Given the description of an element on the screen output the (x, y) to click on. 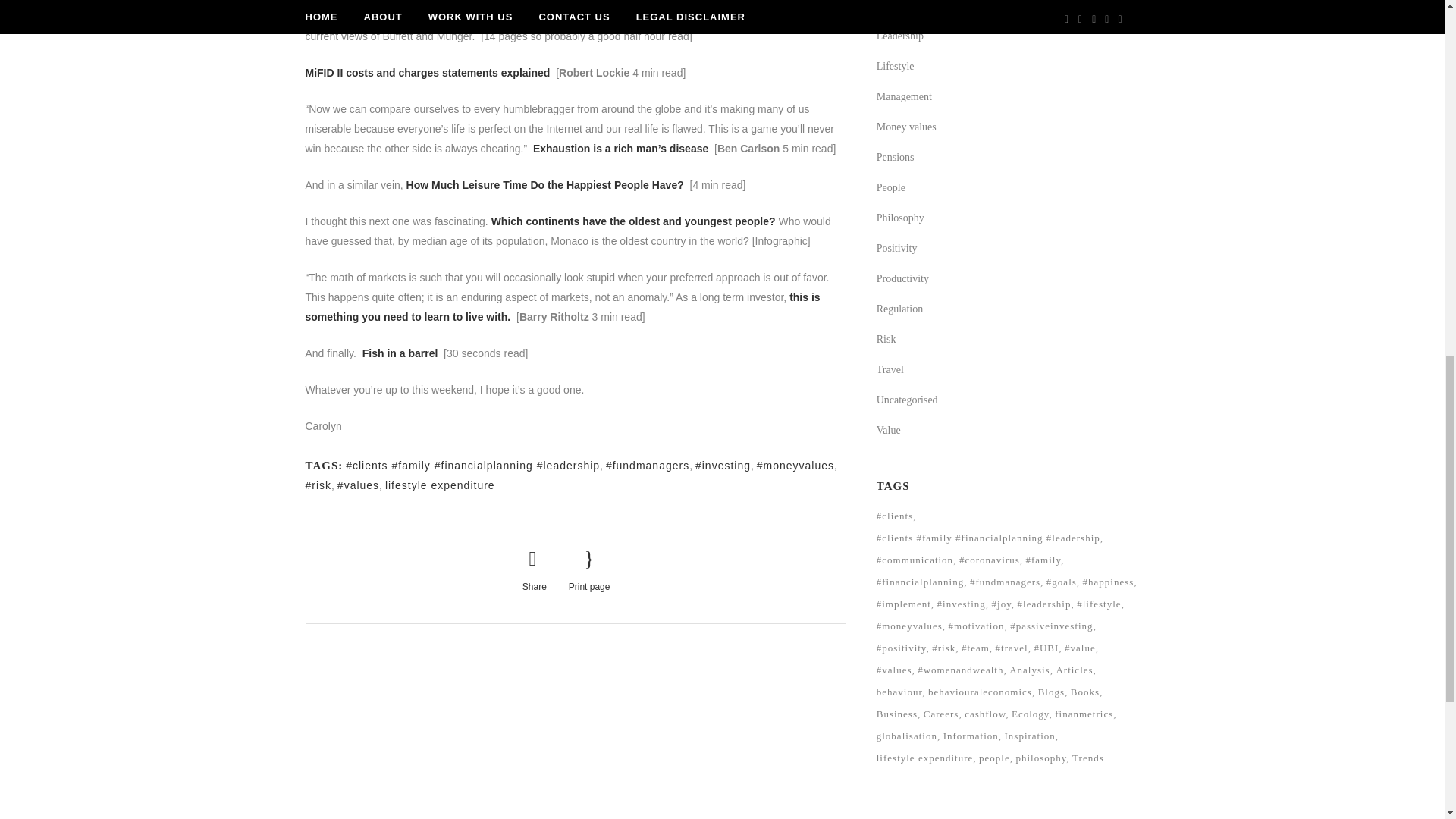
How Much Leisure Time Do the Happiest People Have? (545, 184)
Which continents have the oldest and youngest people? (635, 221)
Fish in a barrel (401, 353)
MiFID II costs and charges statements explained (427, 72)
this is something you need to learn to live with. (561, 306)
